Given the description of an element on the screen output the (x, y) to click on. 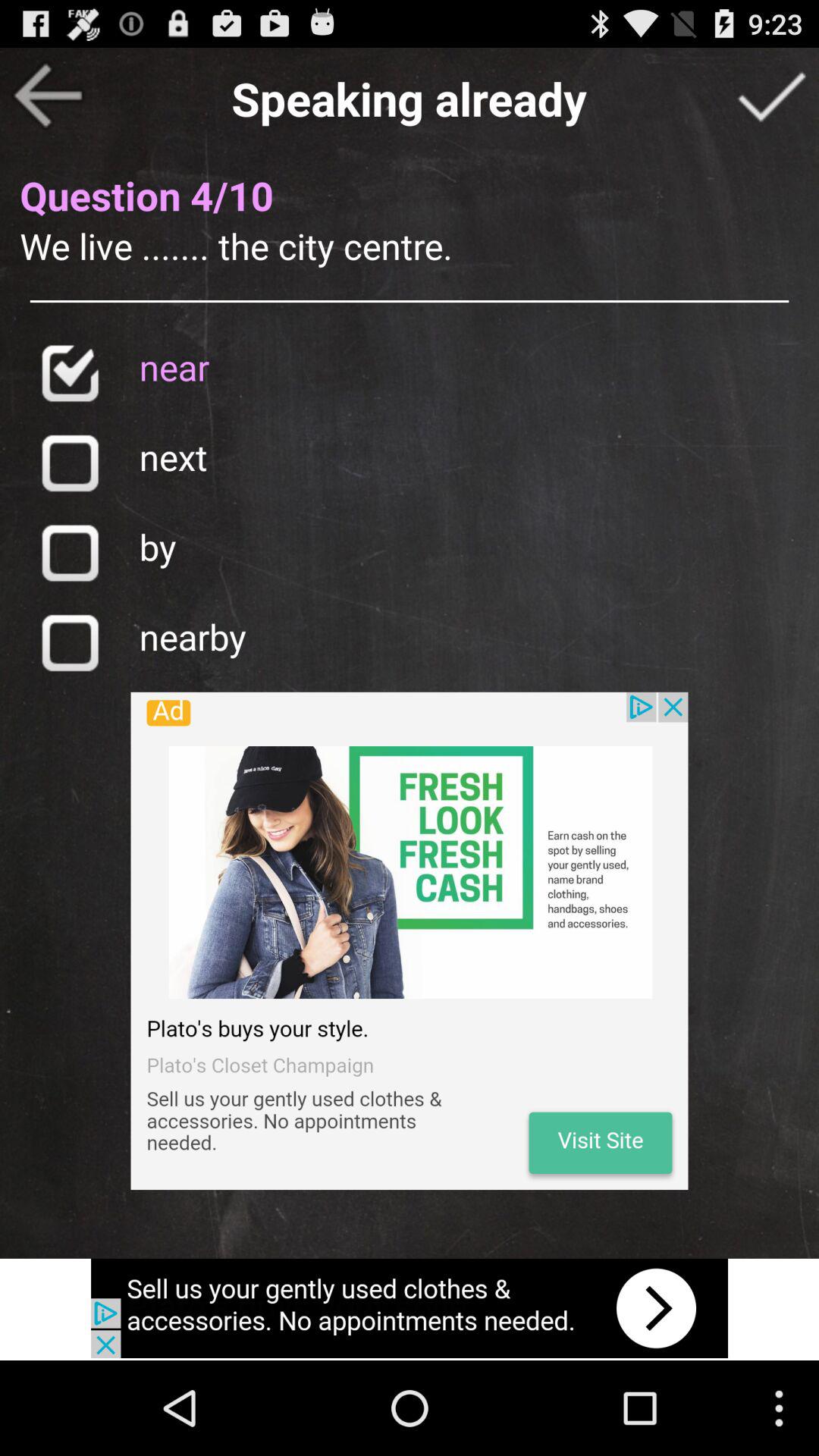
tick the box (771, 95)
